Given the description of an element on the screen output the (x, y) to click on. 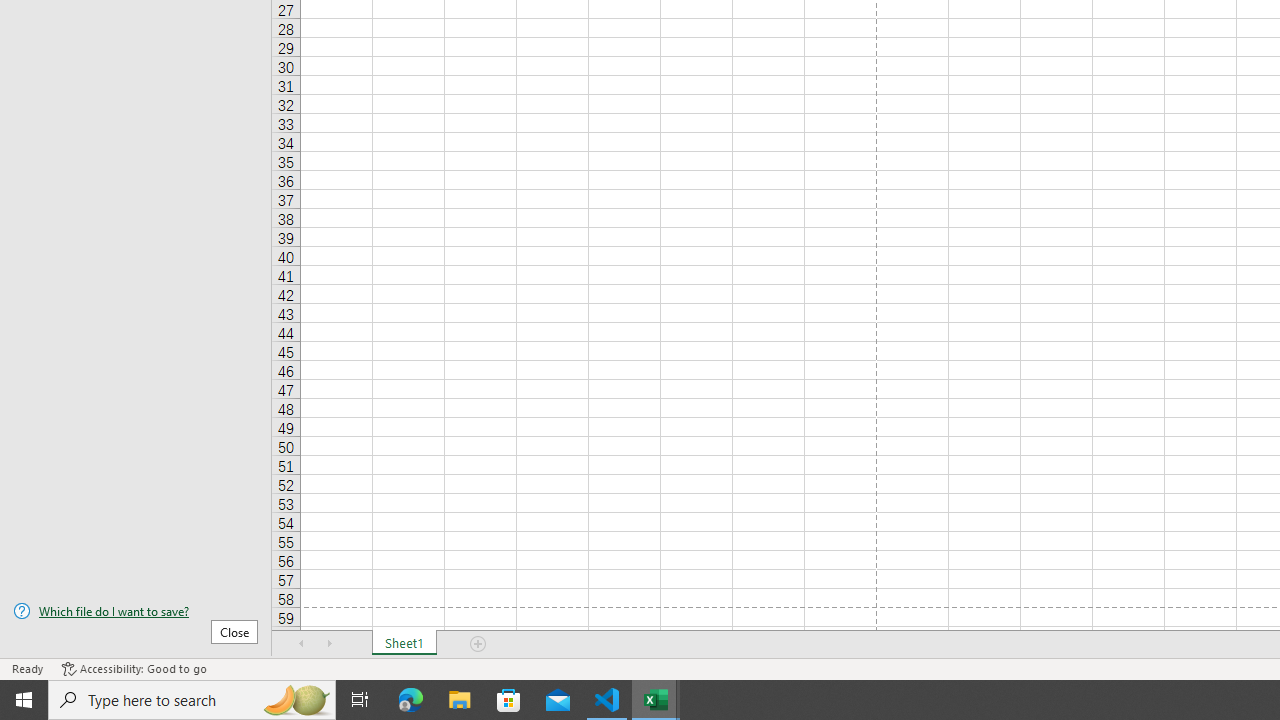
Start (24, 699)
Microsoft Store (509, 699)
Type here to search (191, 699)
Search highlights icon opens search home window (295, 699)
Visual Studio Code - 1 running window (607, 699)
Excel - 2 running windows (656, 699)
Task View (359, 699)
Microsoft Edge (411, 699)
